Given the description of an element on the screen output the (x, y) to click on. 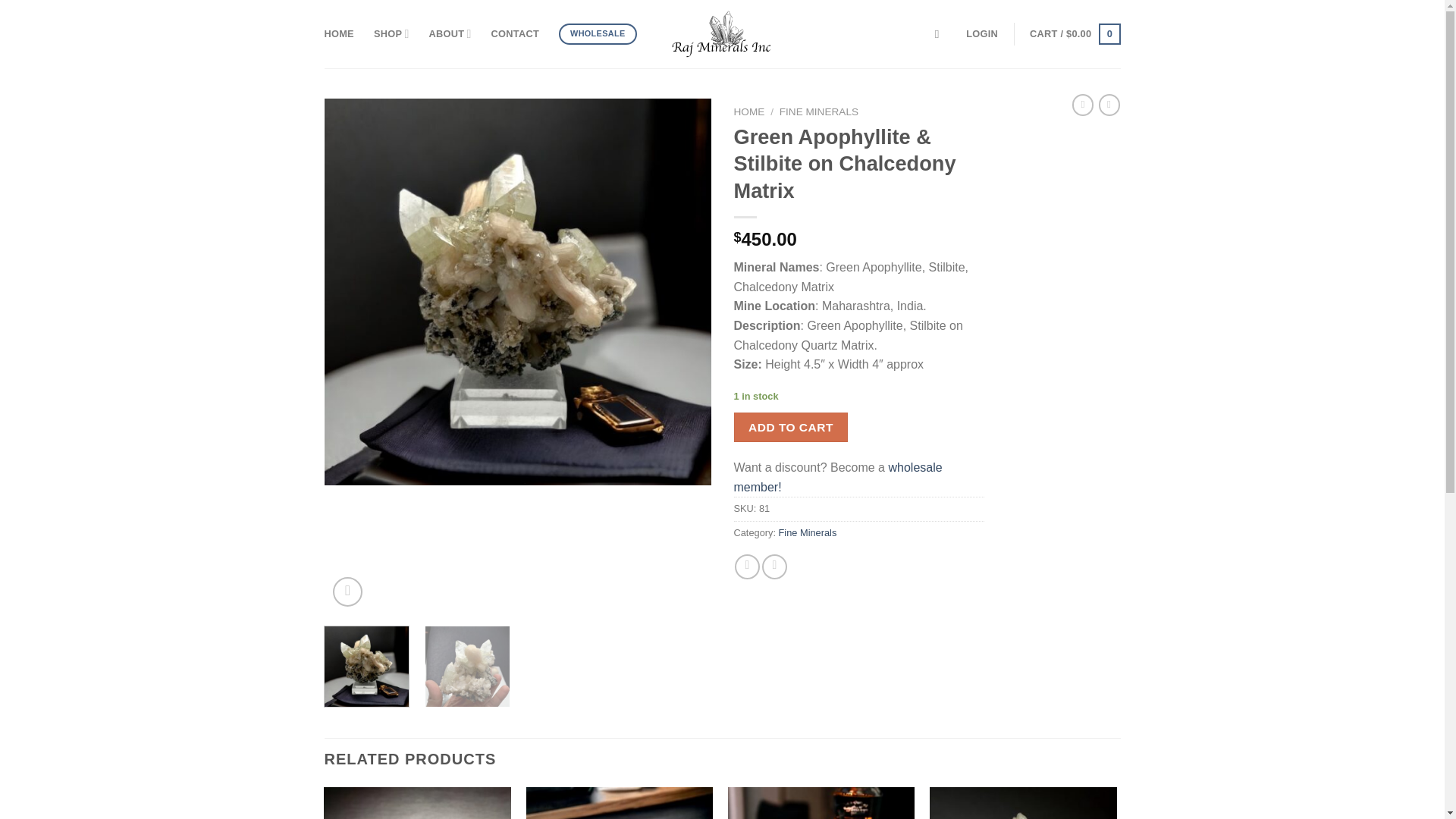
SHOP (391, 33)
CONTACT (515, 33)
Cart (1074, 34)
Share on Facebook (747, 566)
FINE MINERALS (818, 111)
ABOUT (450, 33)
Zoom (347, 591)
LOGIN (981, 33)
Fine Minerals (807, 532)
HOME (338, 33)
